Given the description of an element on the screen output the (x, y) to click on. 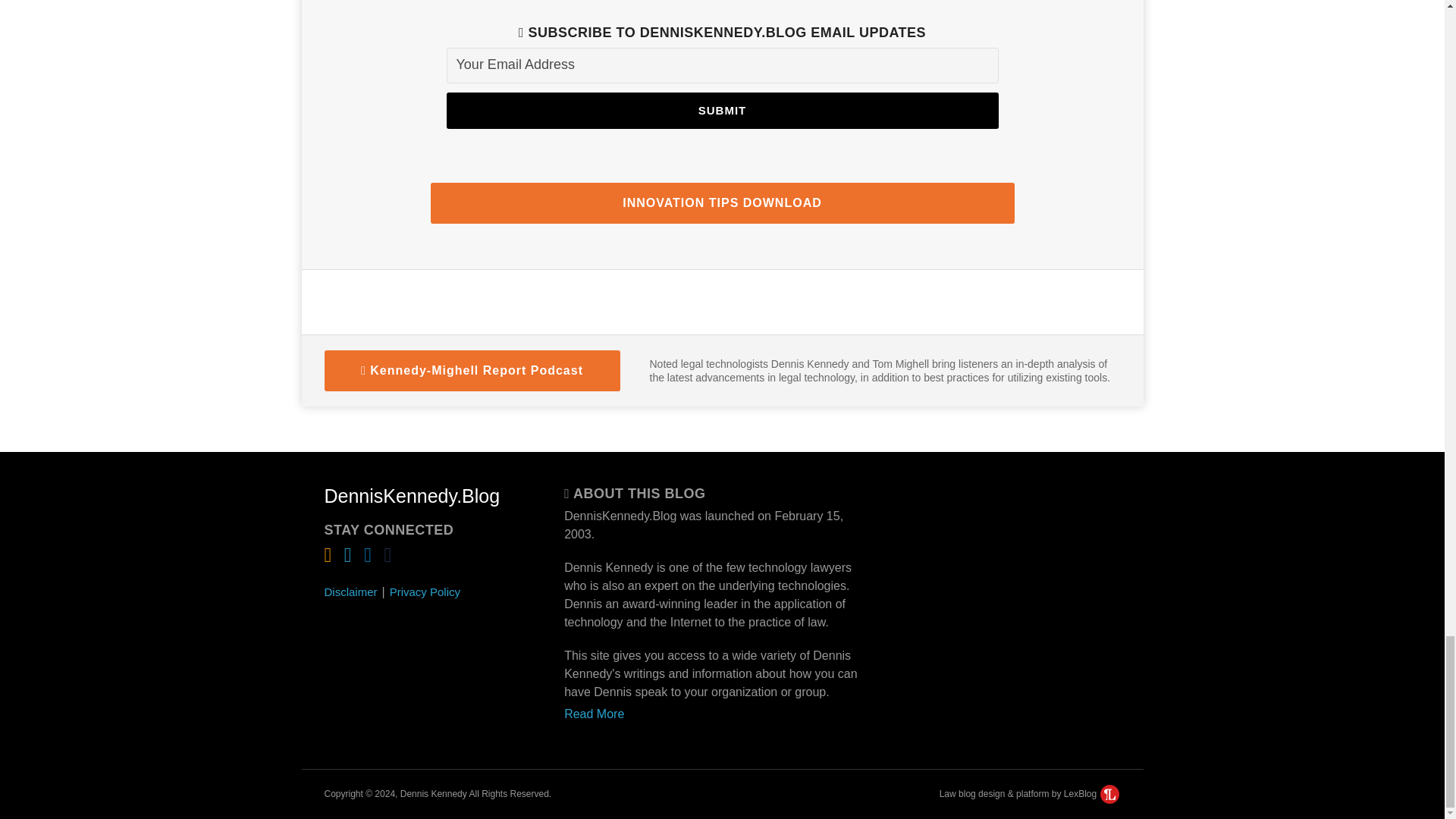
LexBlog Logo (1109, 793)
Submit (721, 110)
